Given the description of an element on the screen output the (x, y) to click on. 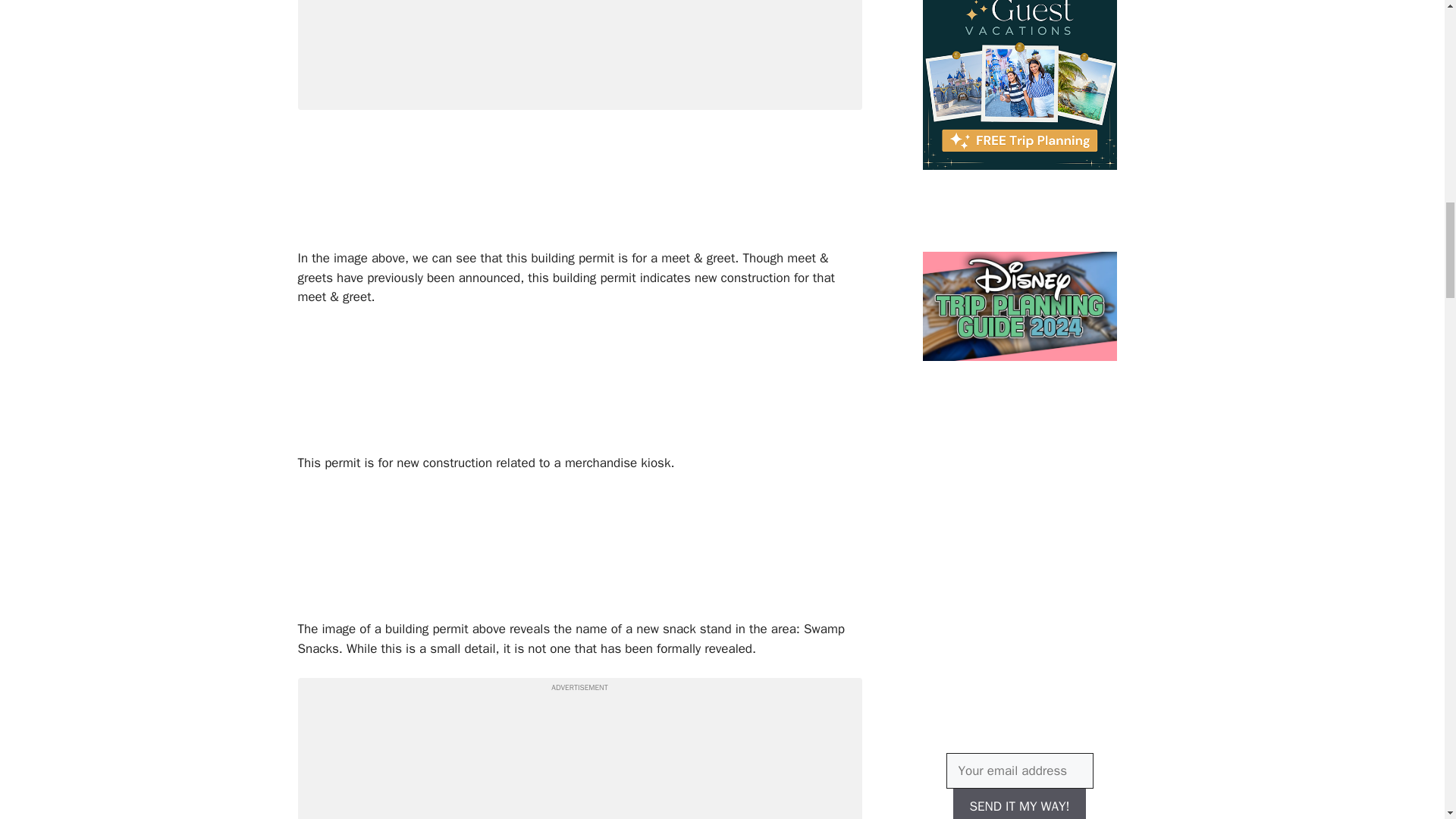
SEND IT MY WAY! (1018, 803)
